Given the description of an element on the screen output the (x, y) to click on. 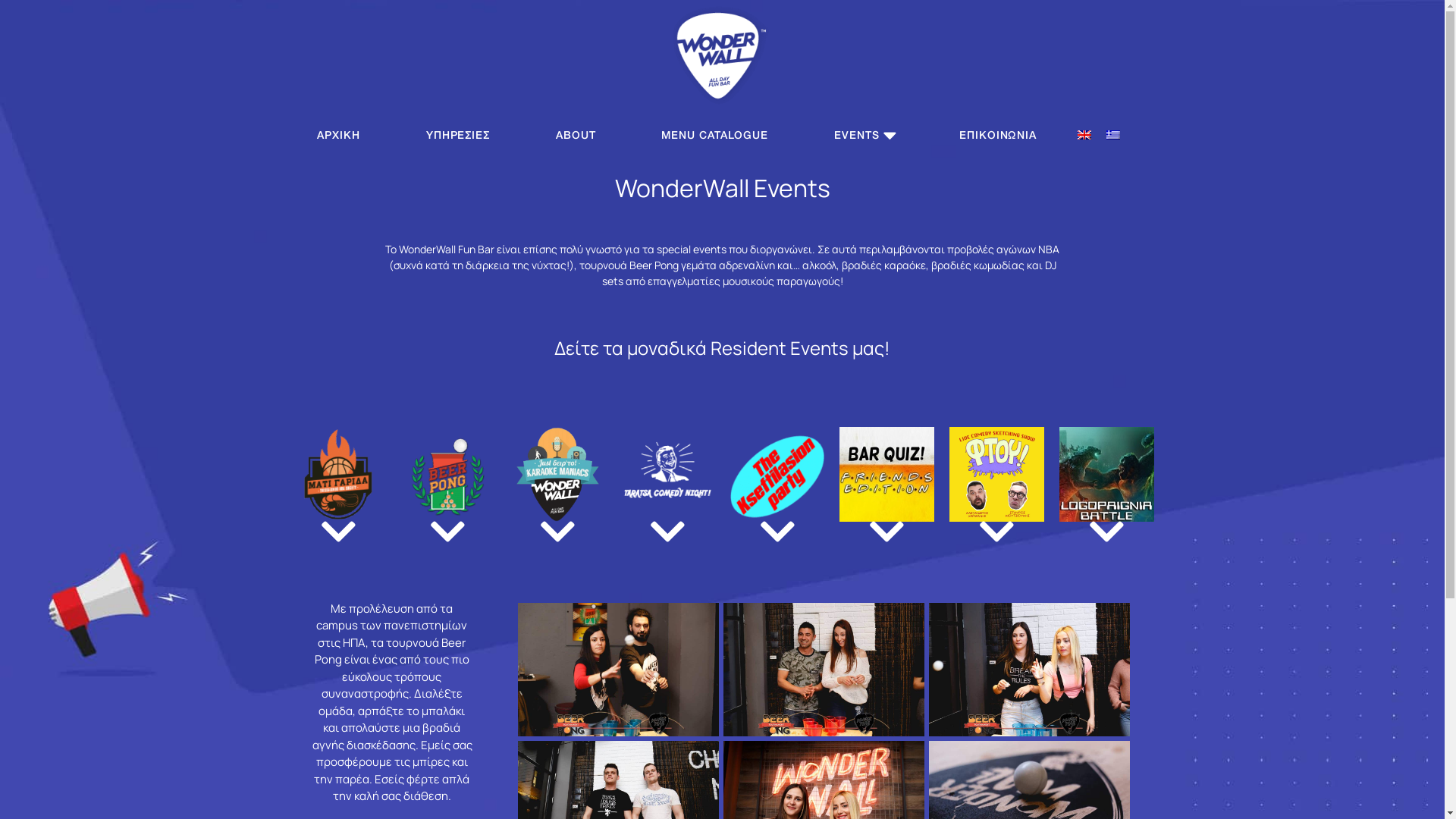
Group 7 Element type: hover (722, 55)
ABOUT Element type: text (575, 134)
MENU CATALOGUE Element type: text (714, 134)
EVENTS Element type: text (863, 134)
